Given the description of an element on the screen output the (x, y) to click on. 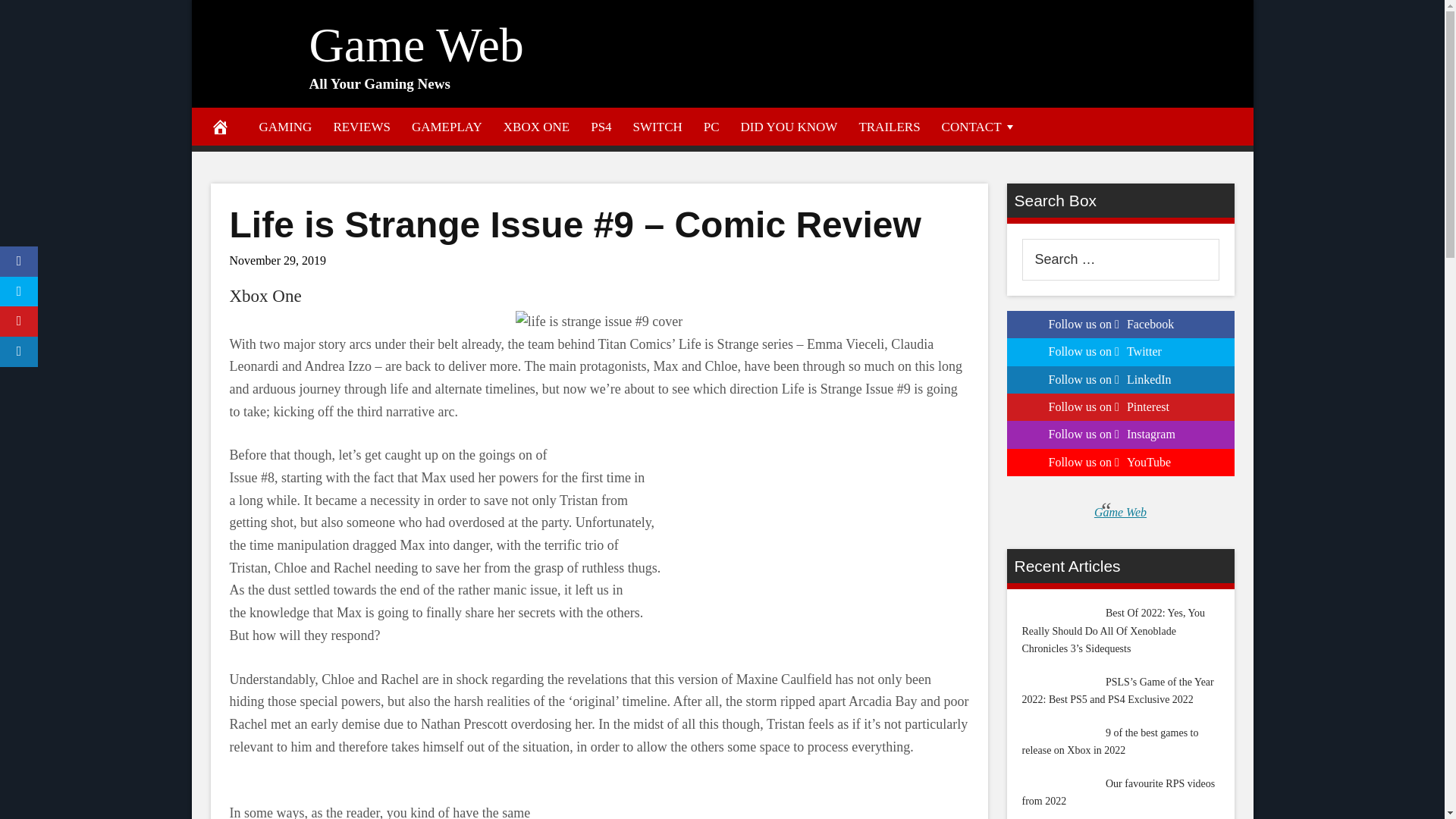
Game Web (416, 45)
GAMING (285, 126)
DID YOU KNOW (789, 126)
SWITCH (658, 126)
TRAILERS (888, 126)
GAMEPLAY (447, 126)
Xbox One (264, 295)
REVIEWS (361, 126)
